Given the description of an element on the screen output the (x, y) to click on. 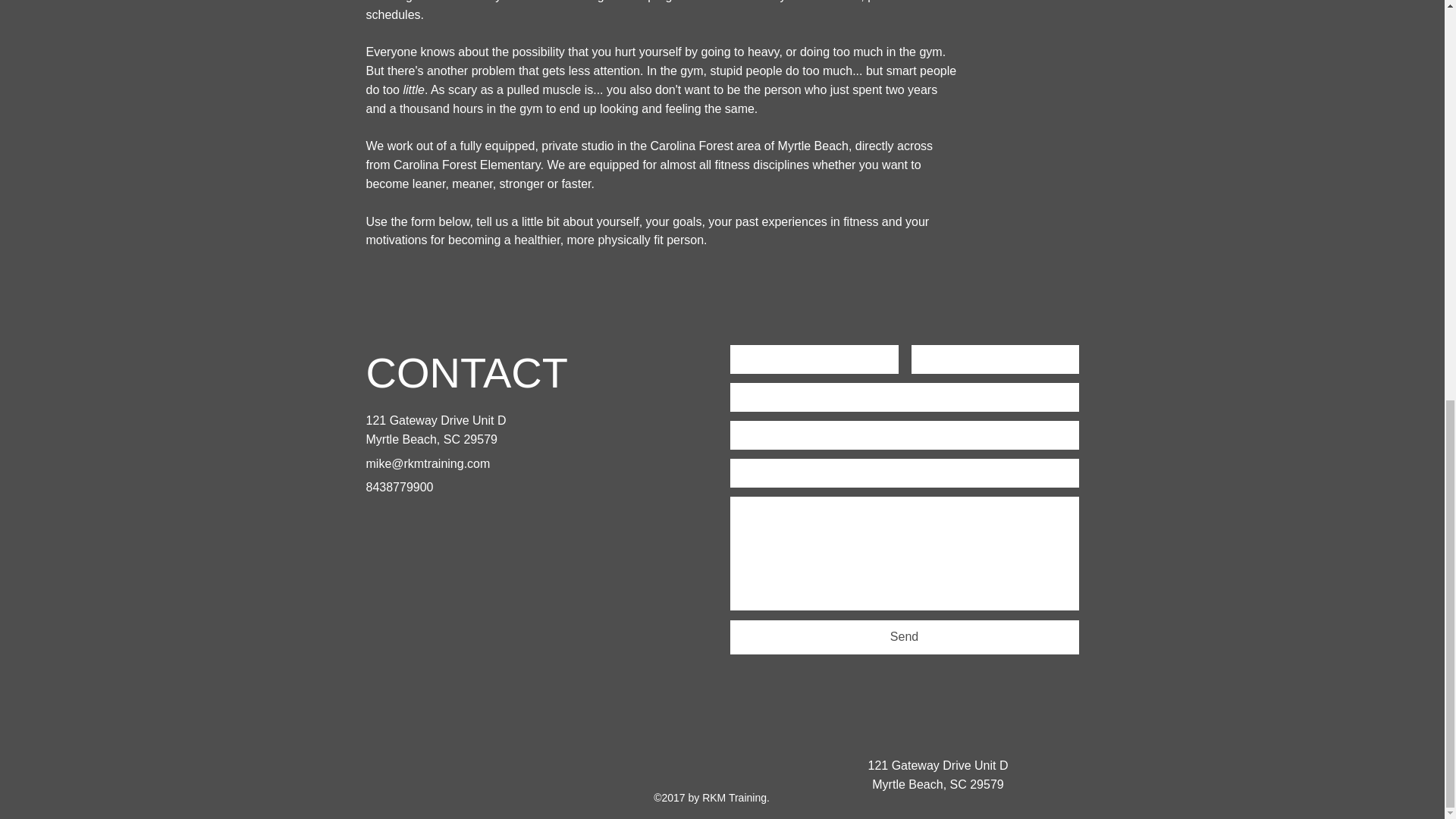
Send (903, 636)
